Given the description of an element on the screen output the (x, y) to click on. 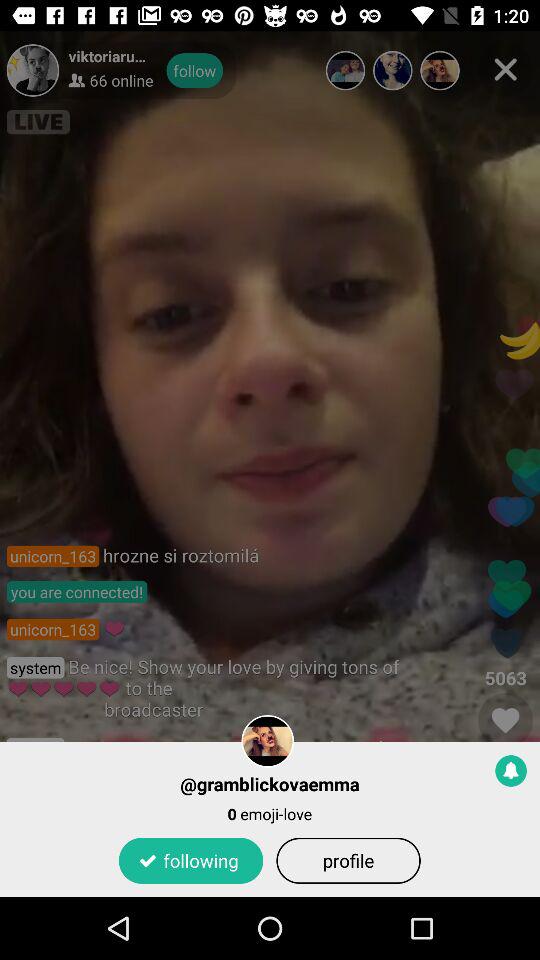
turn on icon at the bottom right corner (511, 770)
